Given the description of an element on the screen output the (x, y) to click on. 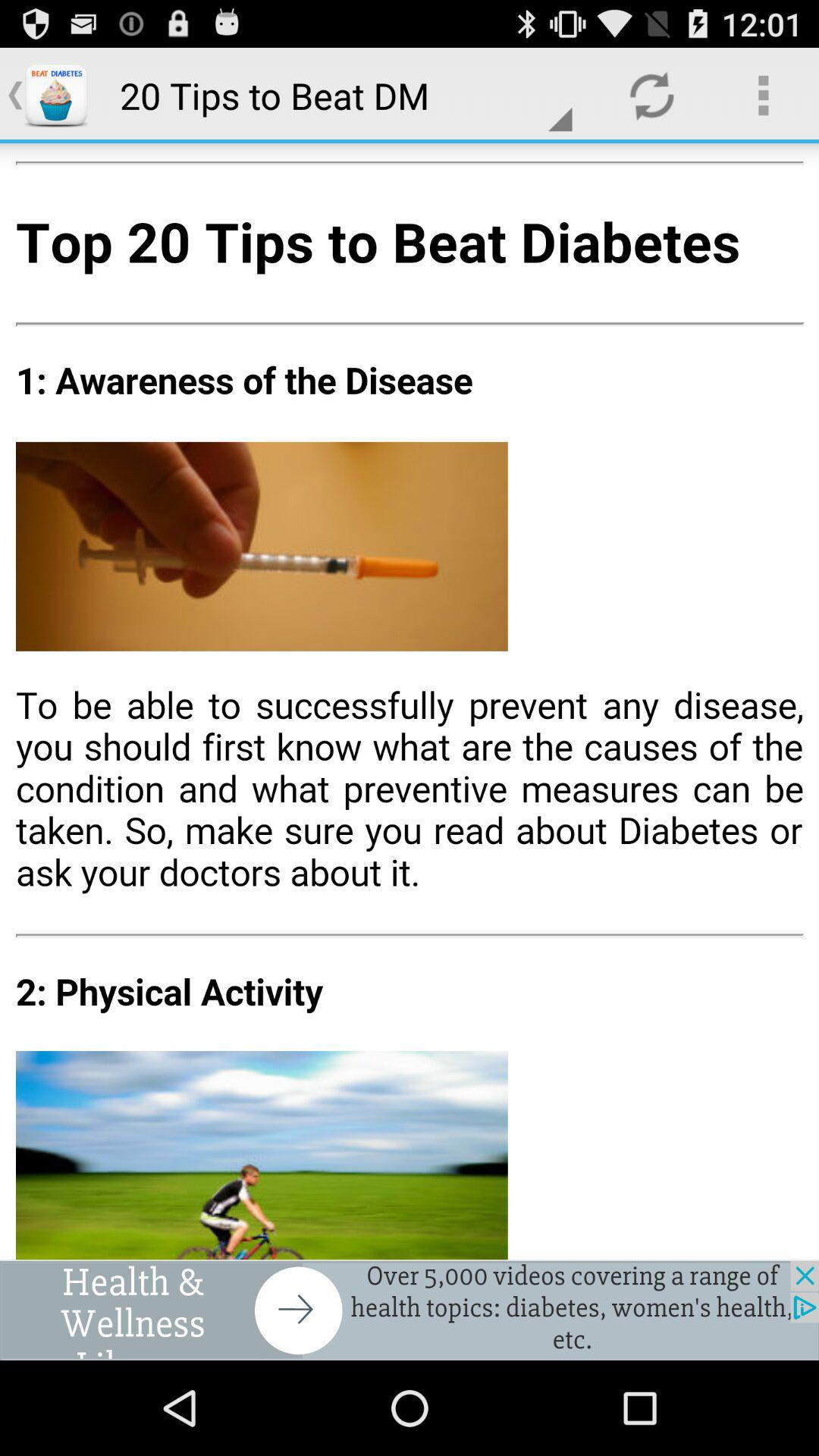
the button is used to share the article to others image (409, 701)
